Given the description of an element on the screen output the (x, y) to click on. 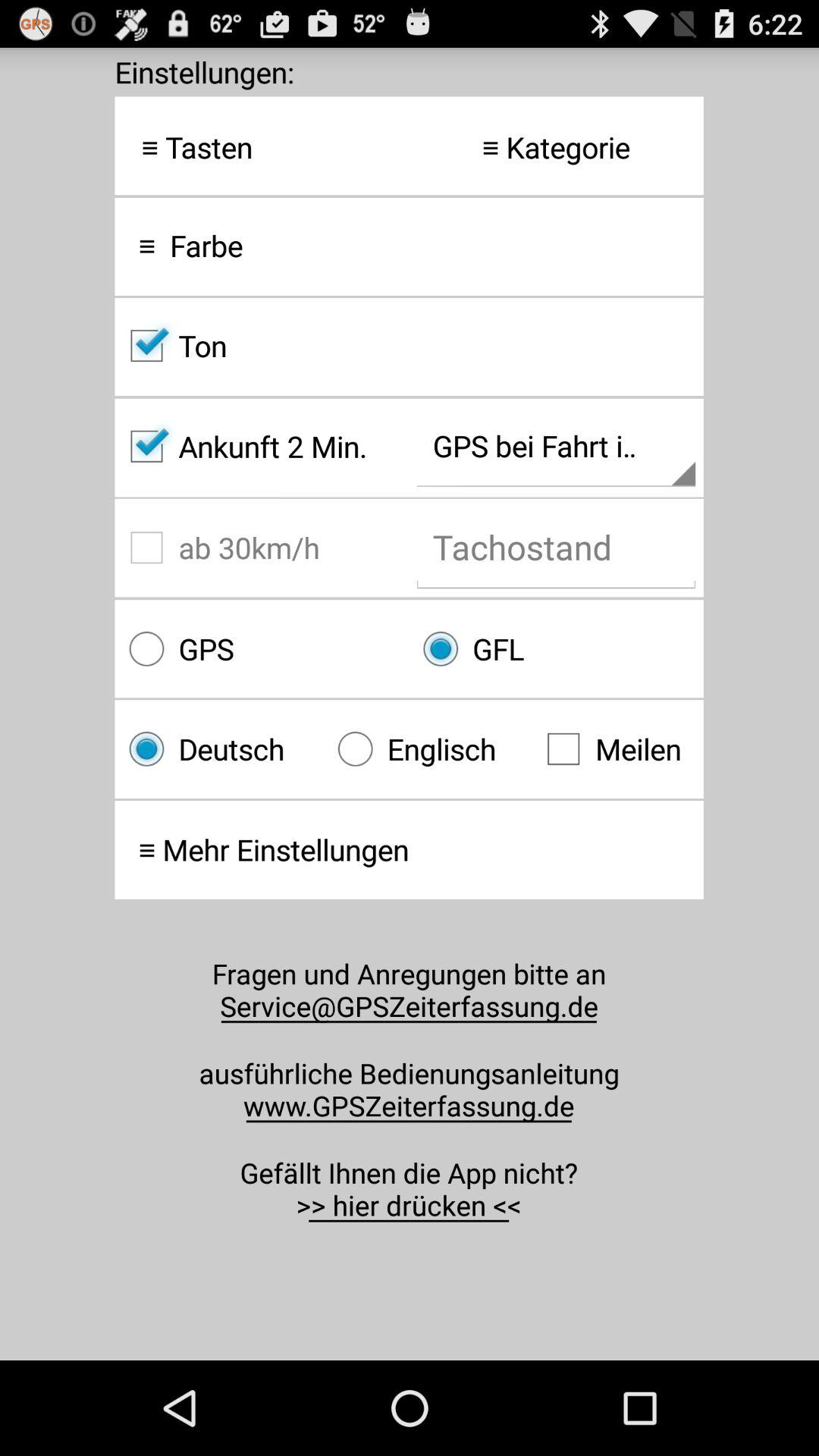
select ton checkbox (408, 346)
